Given the description of an element on the screen output the (x, y) to click on. 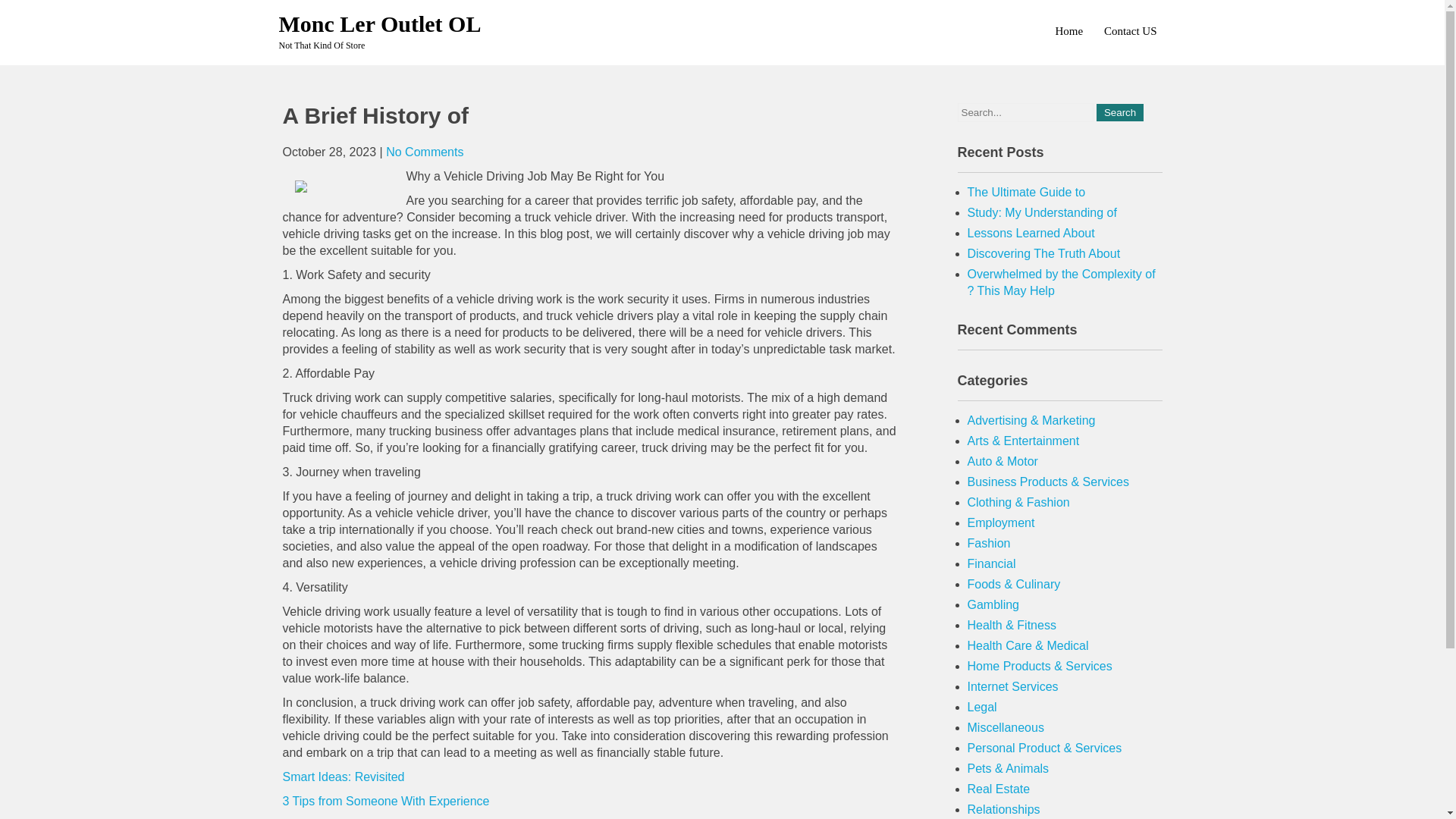
Search (1119, 112)
Overwhelmed by the Complexity of ? This May Help (1062, 282)
Monc Ler Outlet OL (380, 23)
Real Estate (999, 788)
3 Tips from Someone With Experience (385, 800)
Study: My Understanding of (1042, 212)
Smart Ideas: Revisited (343, 776)
Contact US (1130, 30)
Internet Services (1013, 686)
Search (1119, 112)
Employment (1001, 522)
Financial (992, 563)
Legal (982, 707)
Lessons Learned About (1031, 232)
Search (1119, 112)
